Given the description of an element on the screen output the (x, y) to click on. 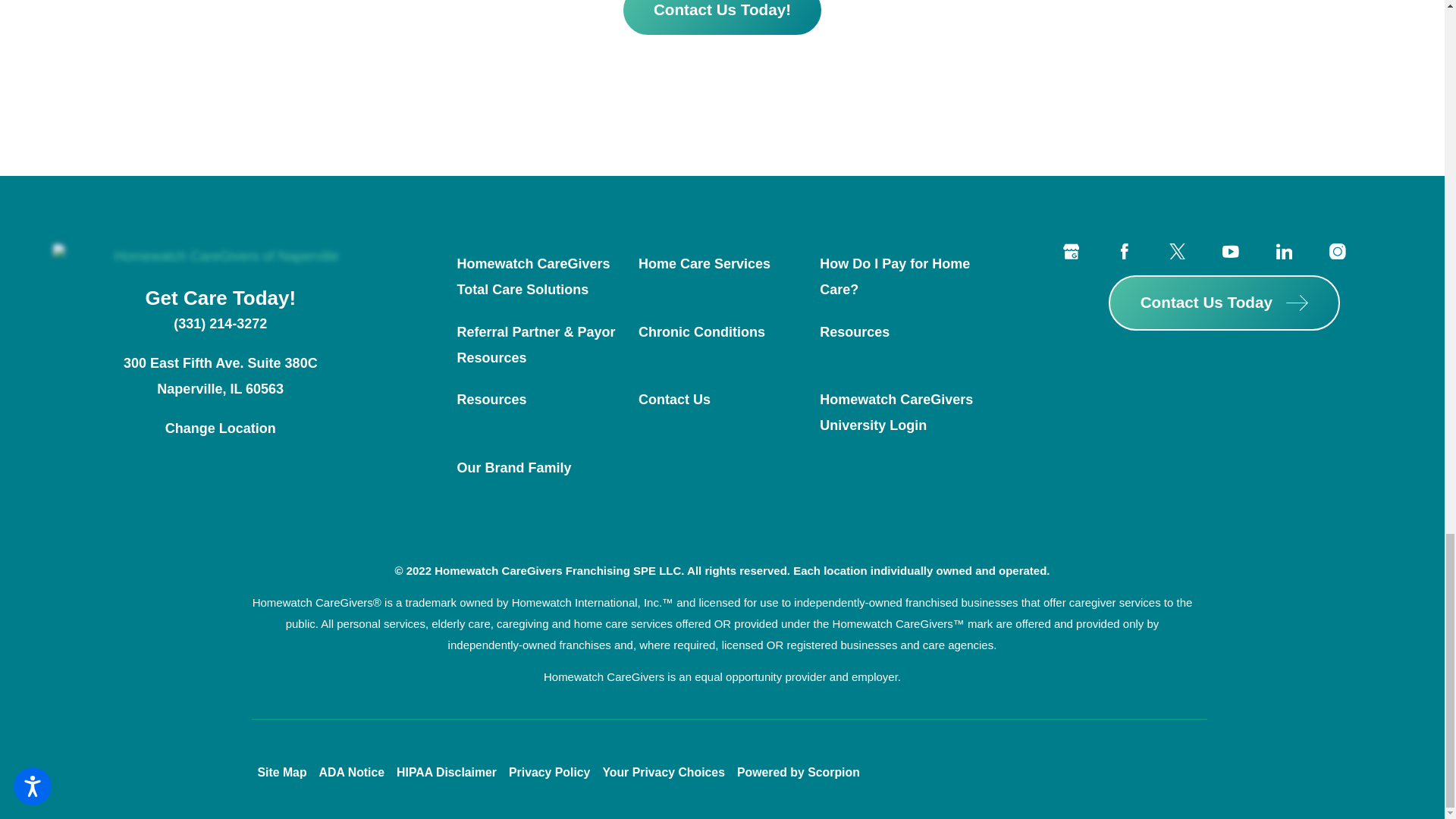
Homewatch CareGivers of Naperville (219, 257)
